Given the description of an element on the screen output the (x, y) to click on. 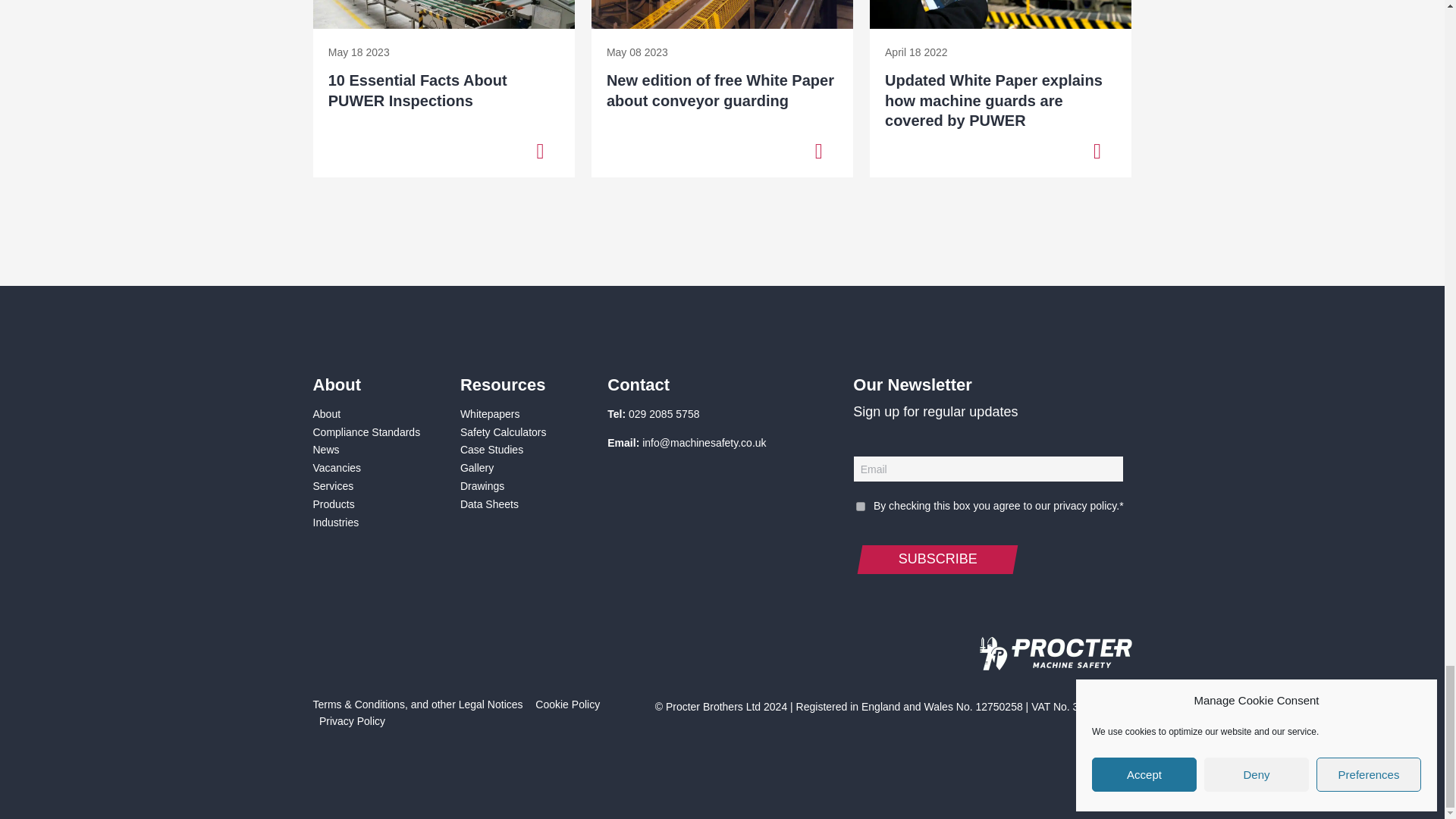
Procter Machine Safety Logo (1055, 666)
1 (860, 506)
